Given the description of an element on the screen output the (x, y) to click on. 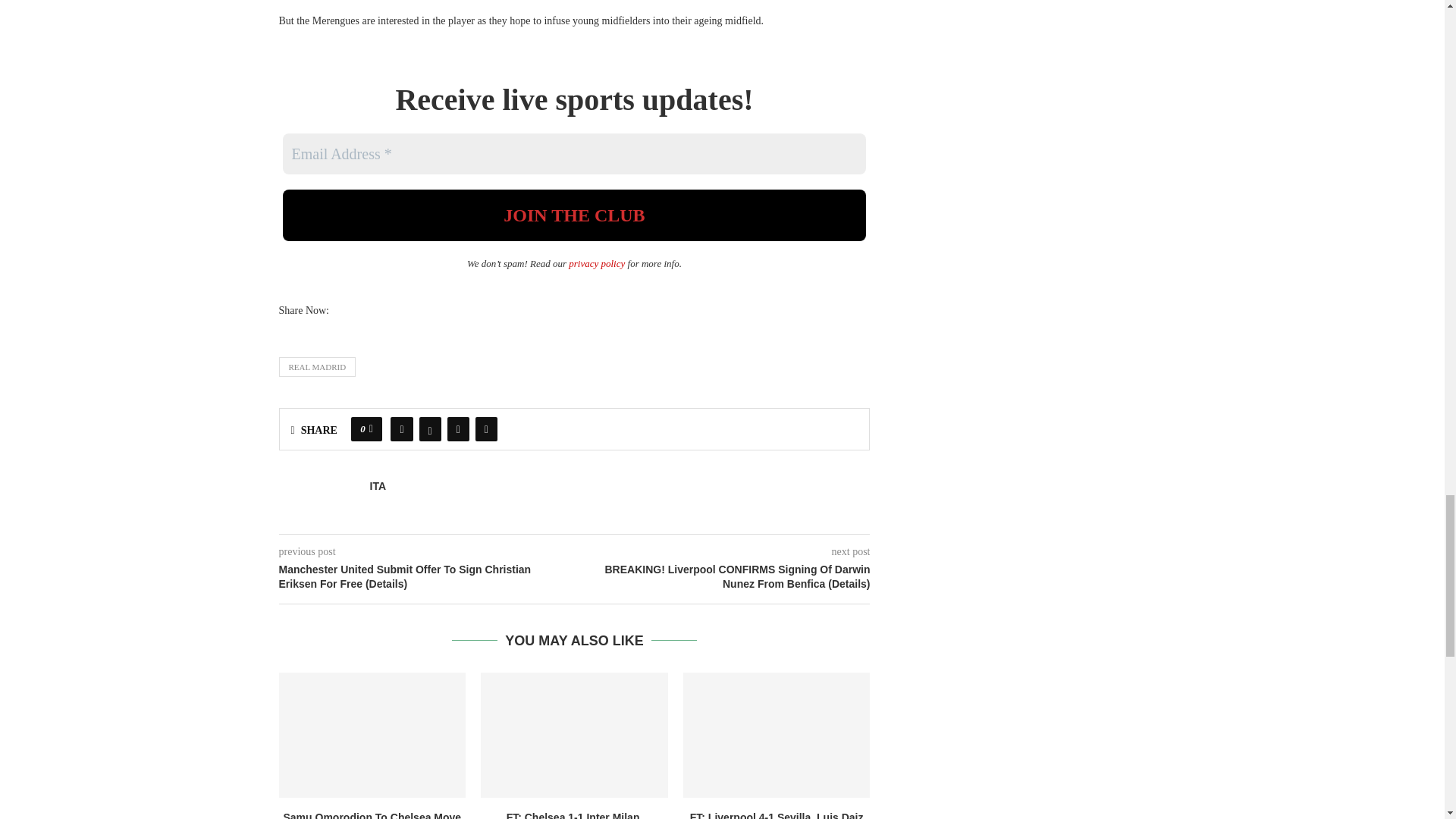
Author Ita (378, 486)
JOIN THE CLUB (574, 214)
Email Address (574, 153)
